Given the description of an element on the screen output the (x, y) to click on. 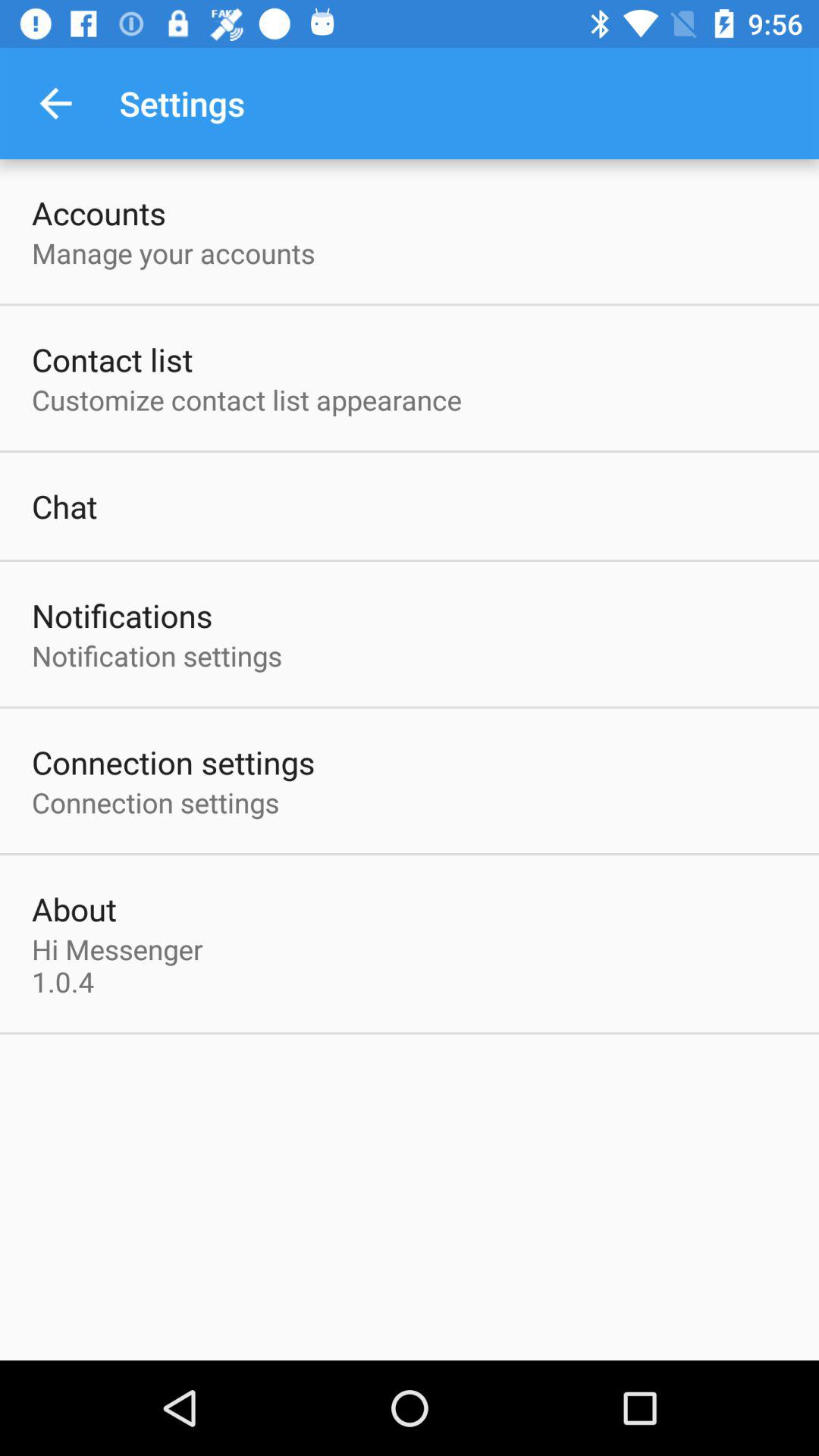
click app to the left of settings item (55, 103)
